Given the description of an element on the screen output the (x, y) to click on. 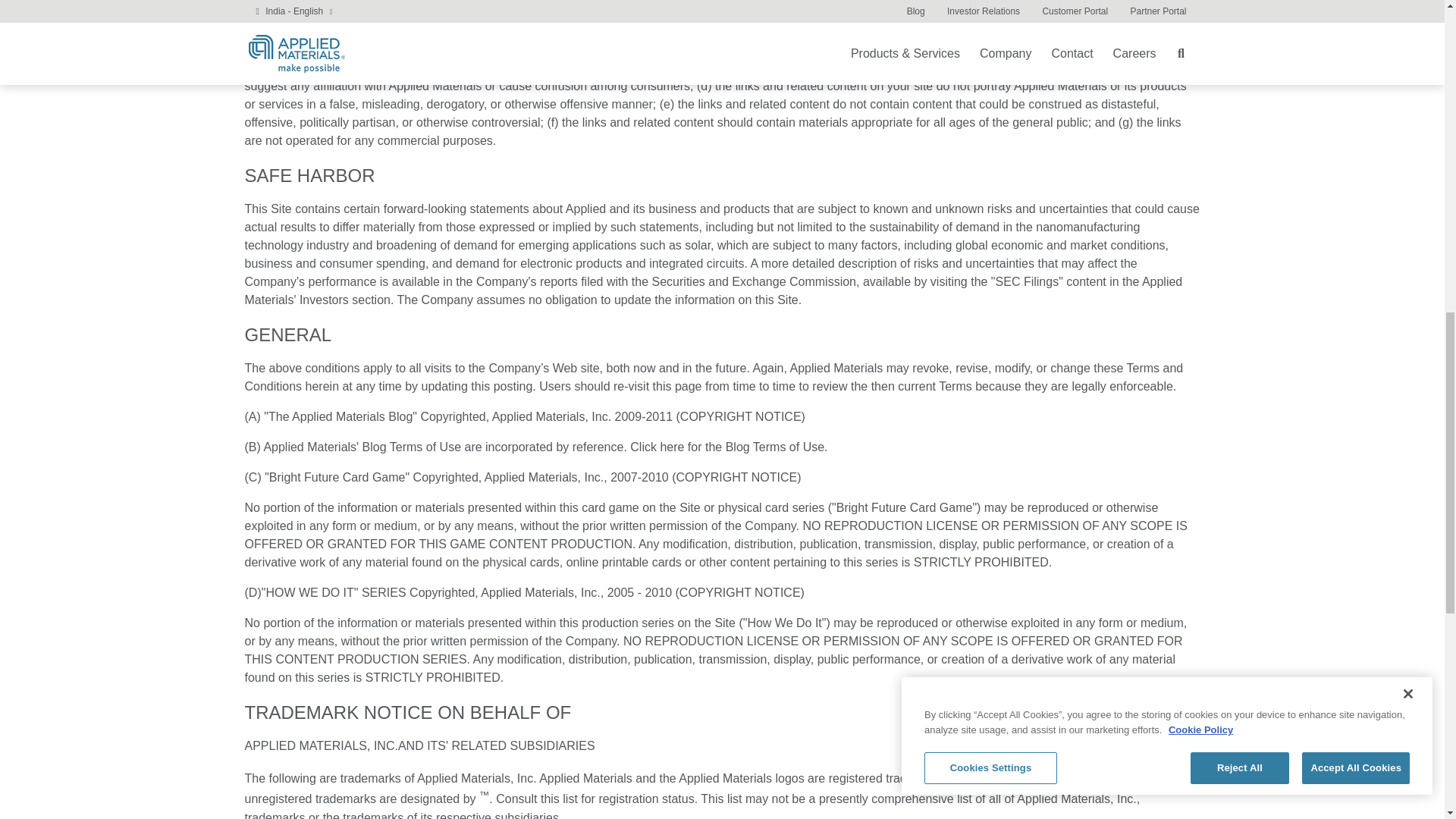
Applied Materials (343, 67)
